Given the description of an element on the screen output the (x, y) to click on. 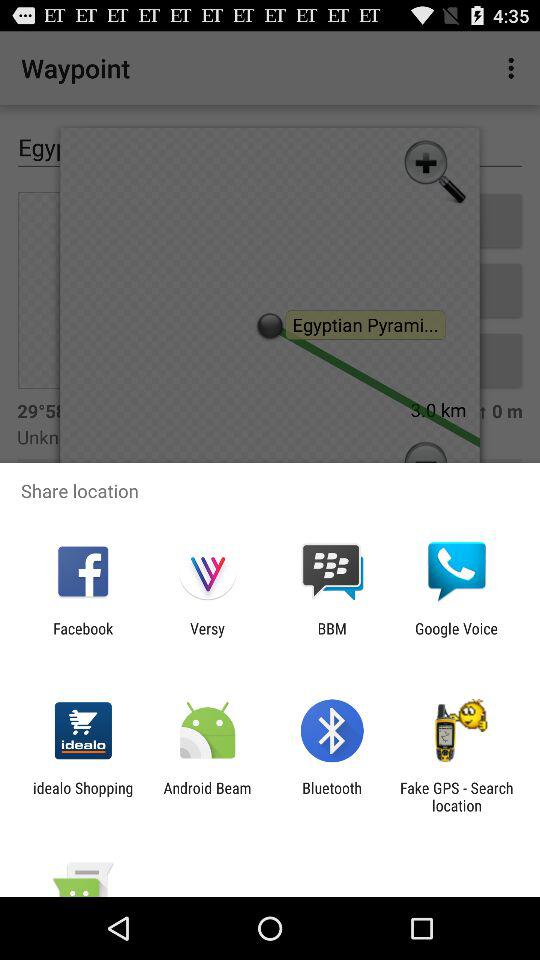
click item to the left of versy item (83, 637)
